Given the description of an element on the screen output the (x, y) to click on. 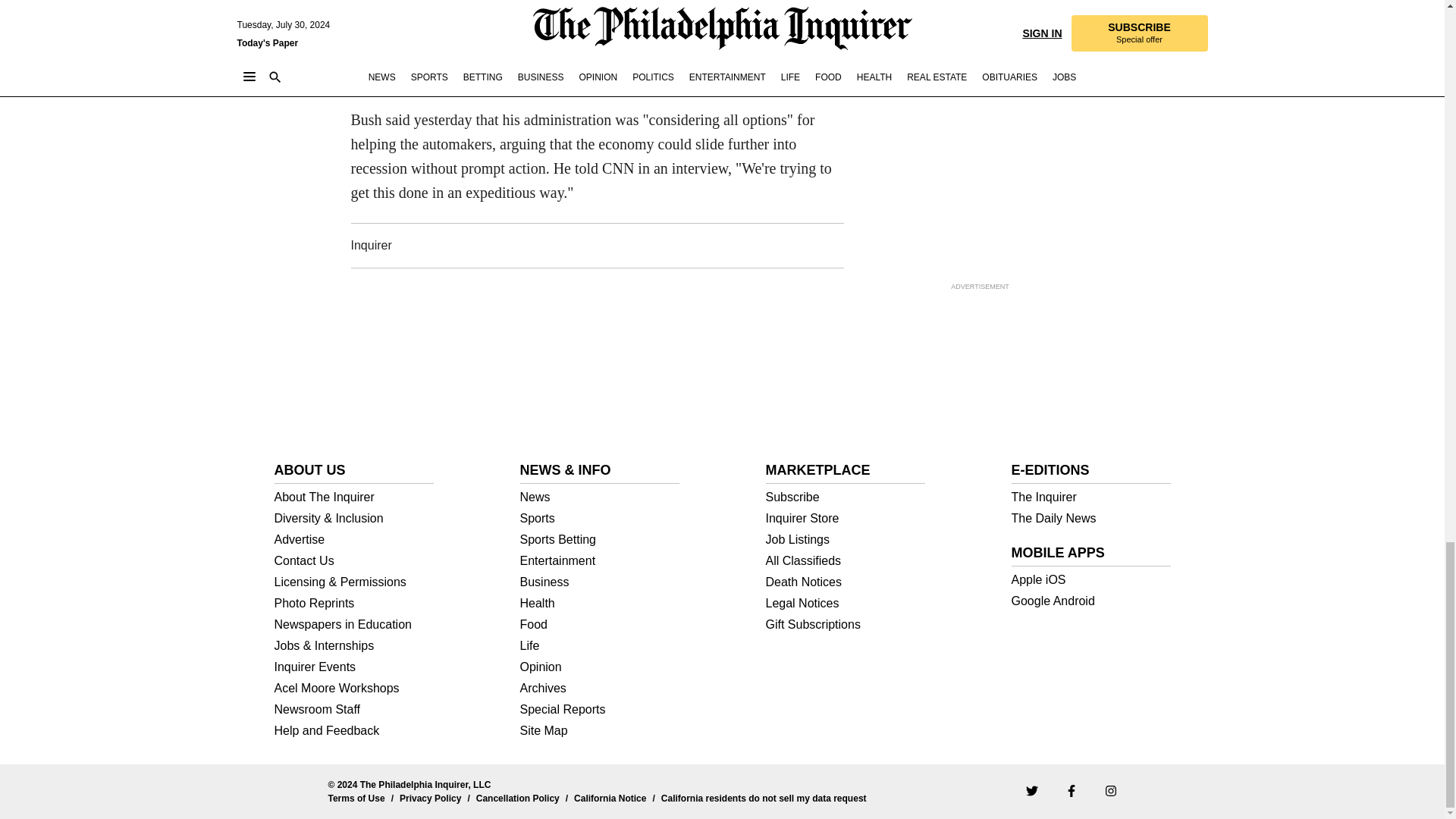
About The Inquirer (354, 497)
Contact Us (354, 561)
Advertise (354, 539)
Facebook (1070, 789)
Twitter (1030, 789)
Instagram (1109, 789)
